Given the description of an element on the screen output the (x, y) to click on. 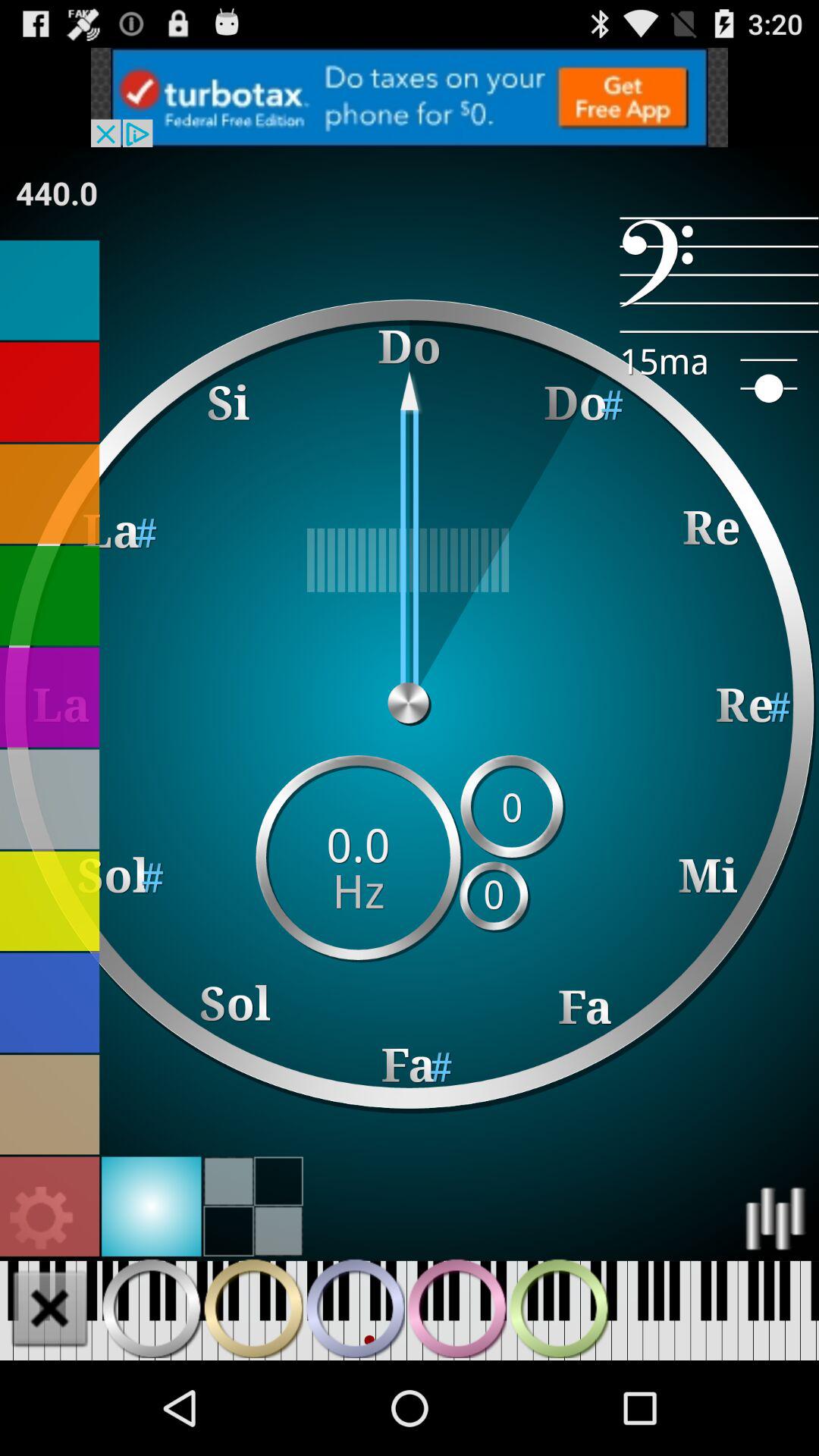
click the item at the top right corner (719, 274)
